Given the description of an element on the screen output the (x, y) to click on. 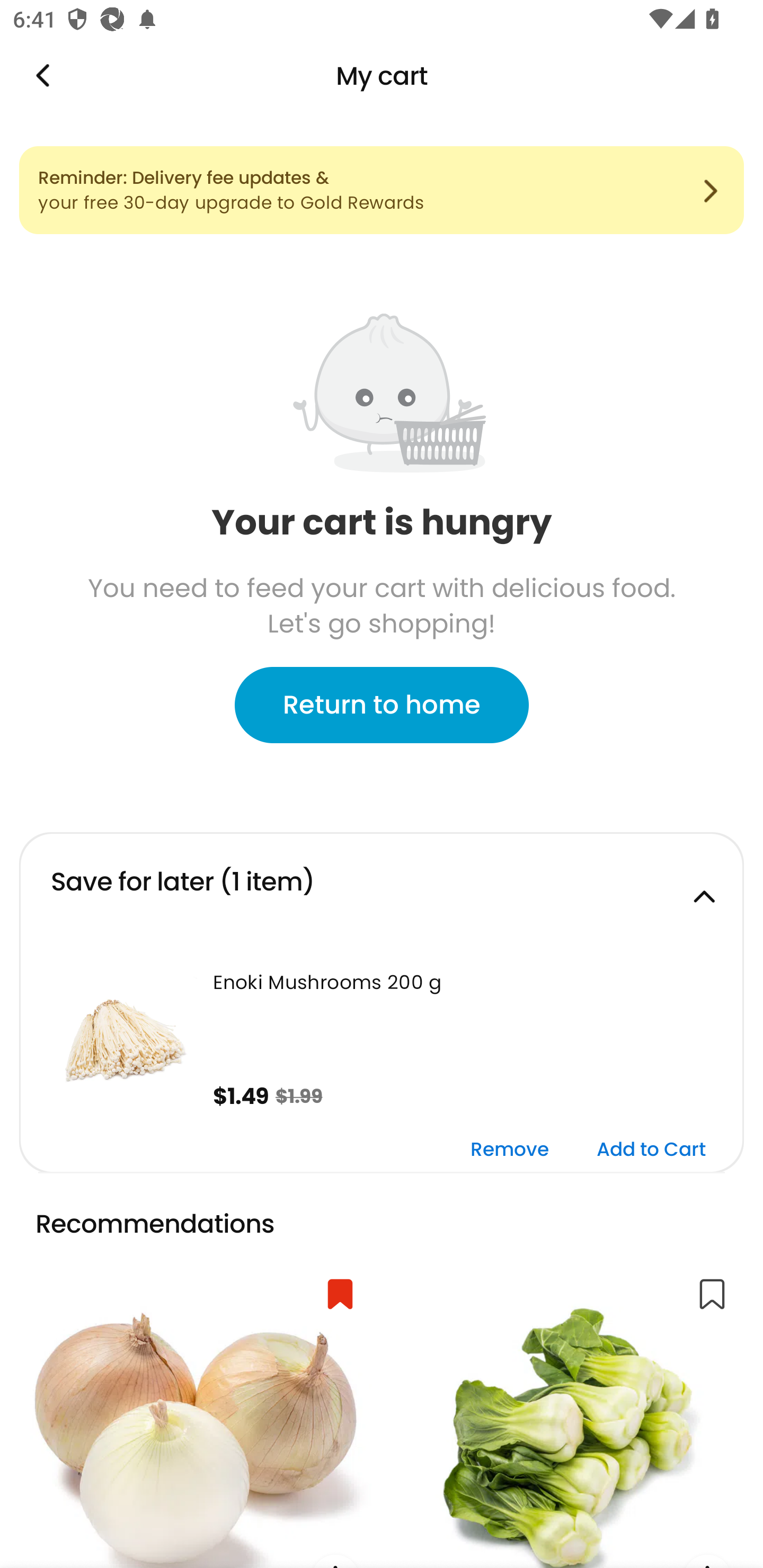
Return to home (381, 704)
Save for later (1 item) (381, 889)
Remove (509, 1149)
Add to Cart (651, 1149)
Recommendations (164, 1224)
